Given the description of an element on the screen output the (x, y) to click on. 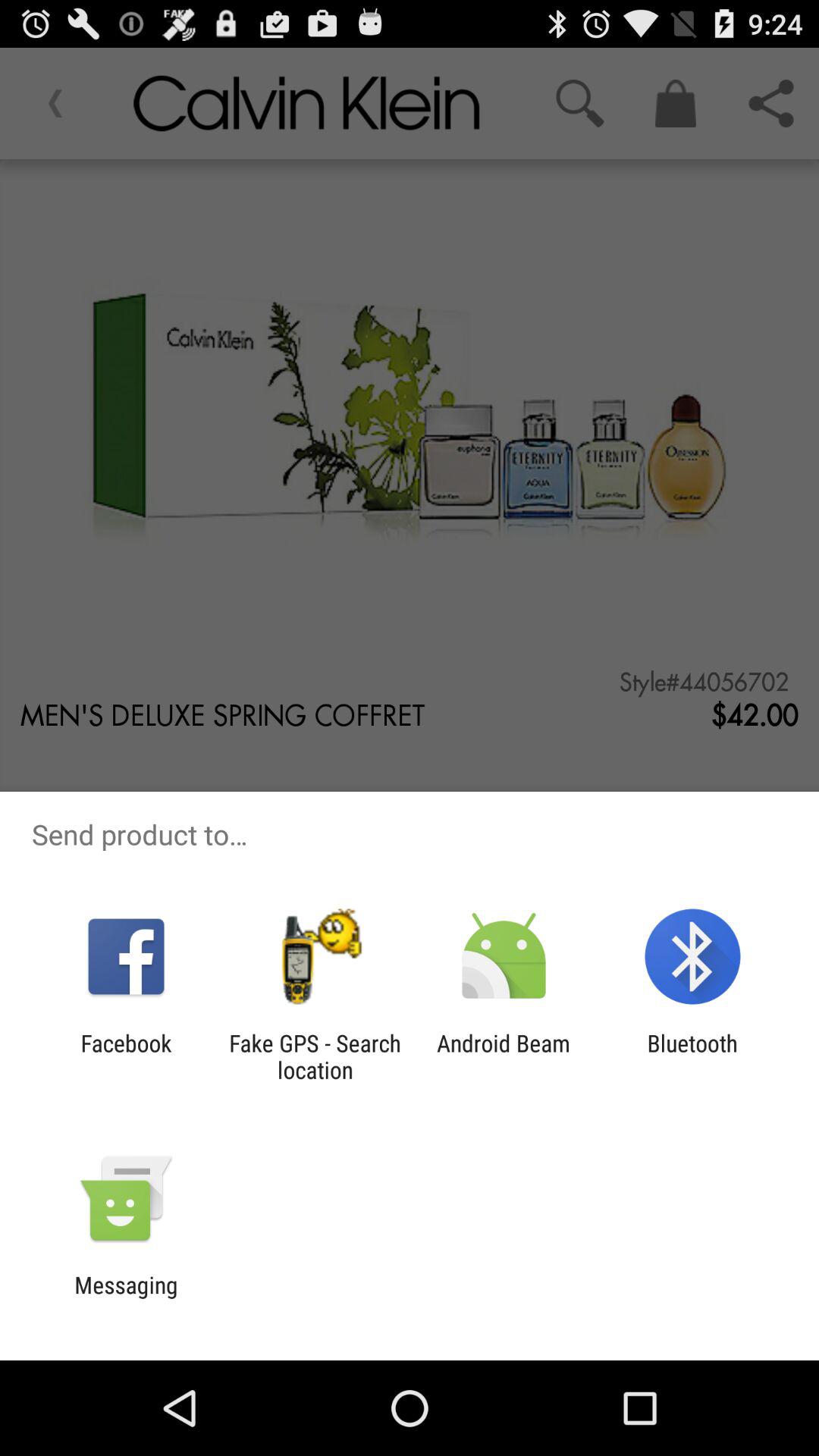
swipe to the fake gps search icon (314, 1056)
